Given the description of an element on the screen output the (x, y) to click on. 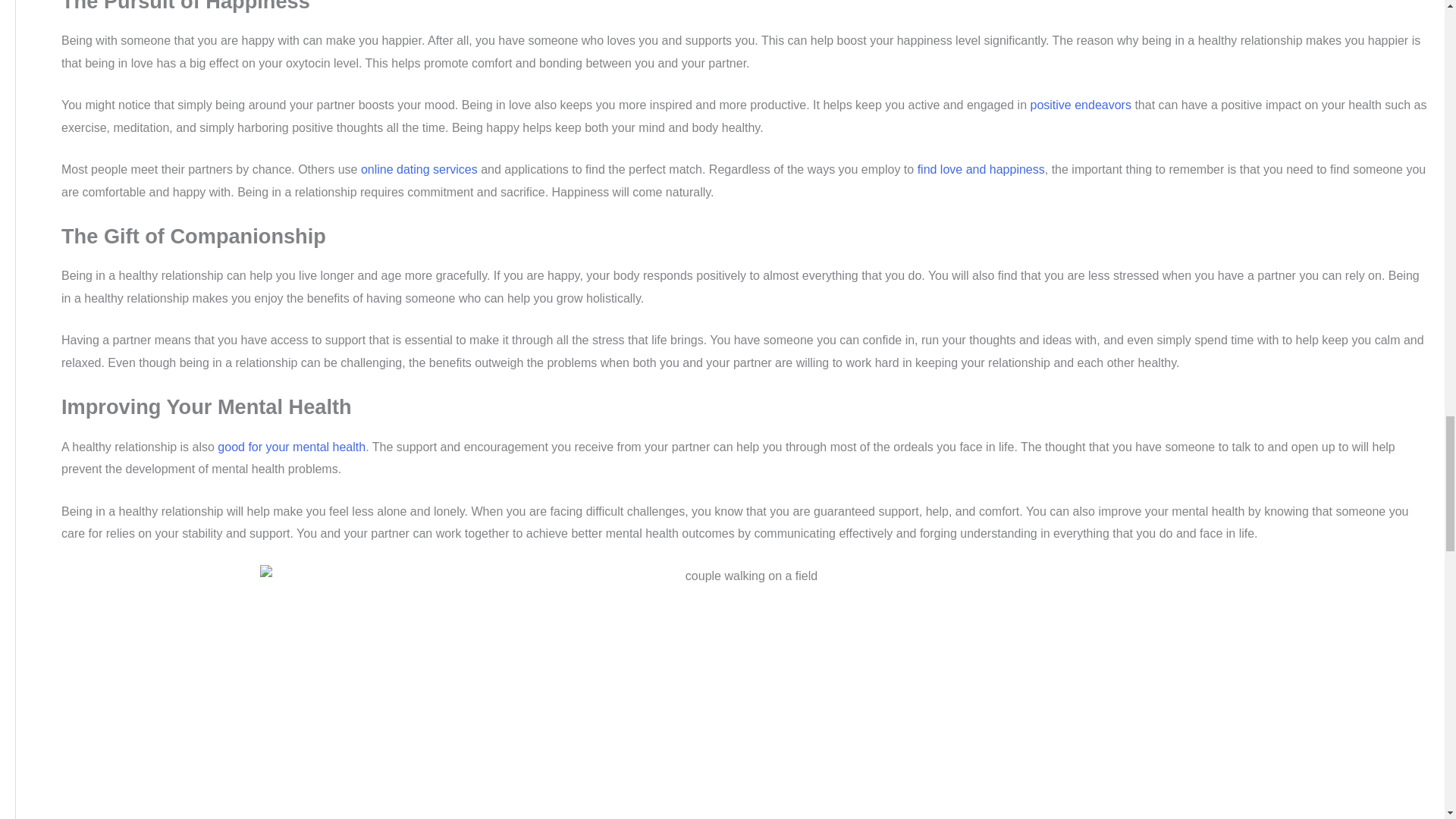
find love and happiness (981, 169)
good for your mental health (290, 446)
online dating services (419, 169)
positive endeavors (1080, 104)
